Given the description of an element on the screen output the (x, y) to click on. 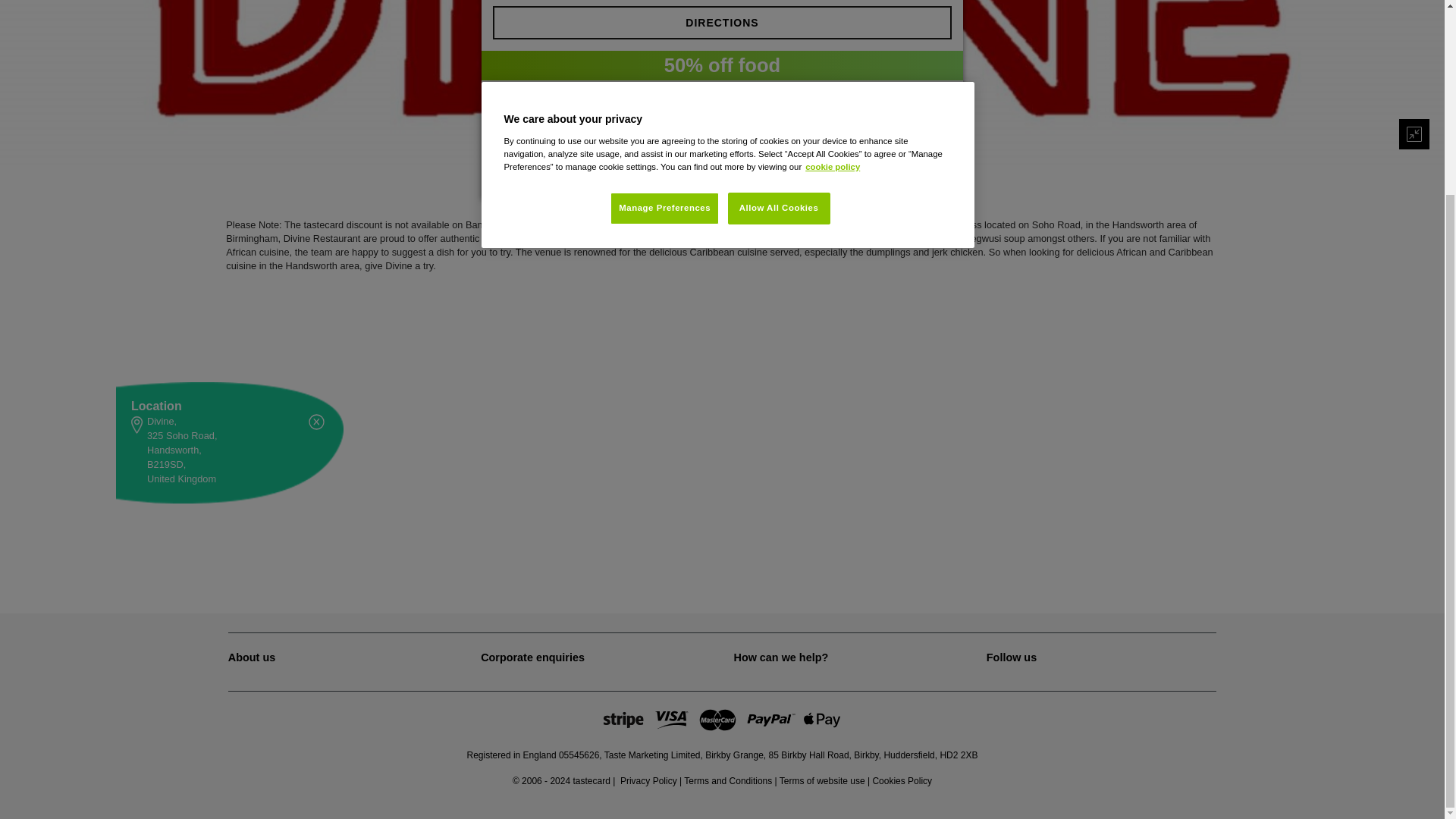
Privacy policy (648, 780)
